Given the description of an element on the screen output the (x, y) to click on. 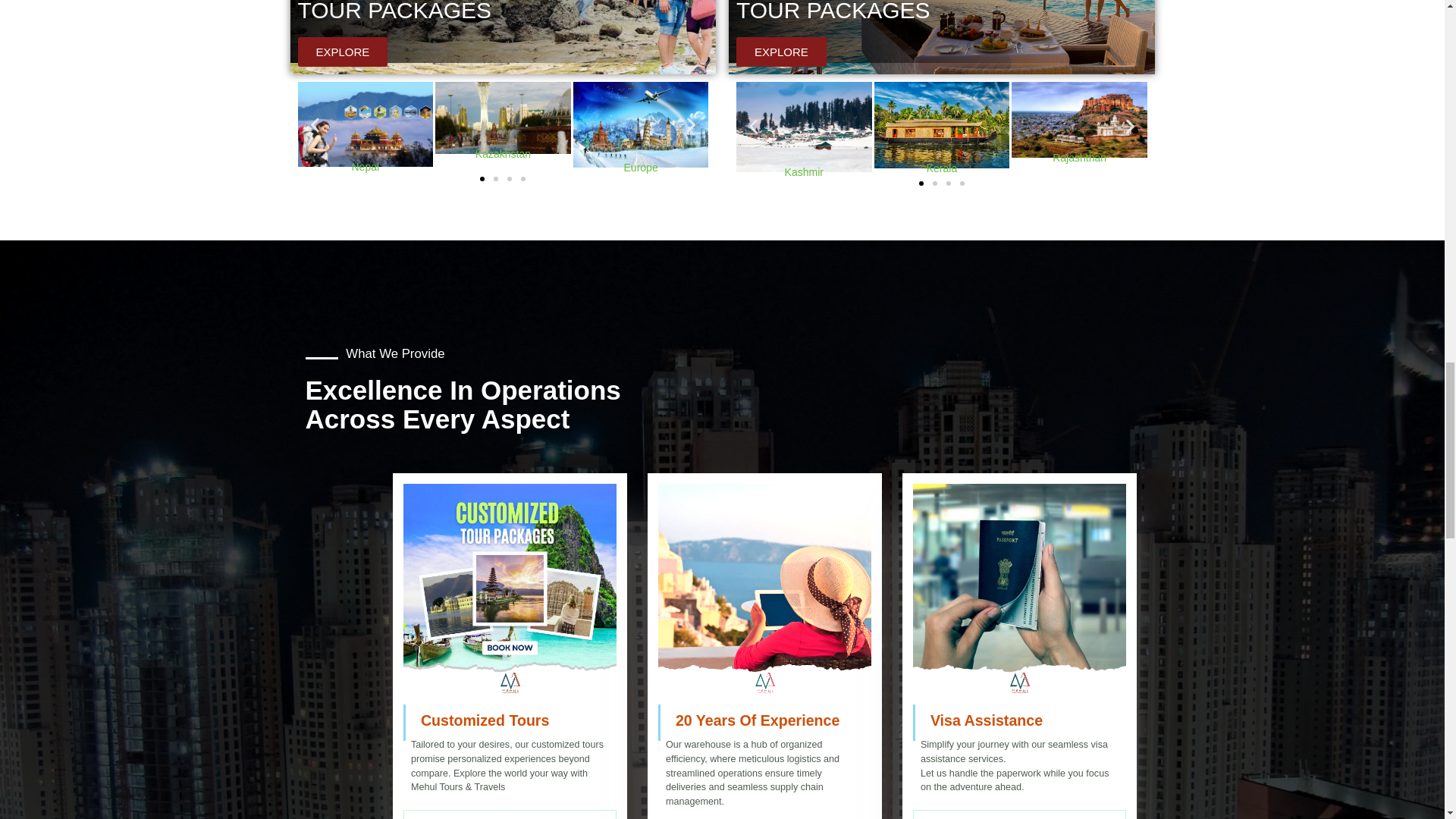
Nepal (364, 124)
EXPLORE (781, 51)
Europe (641, 124)
Kazakhstan (502, 117)
EXPLORE (342, 51)
